Given the description of an element on the screen output the (x, y) to click on. 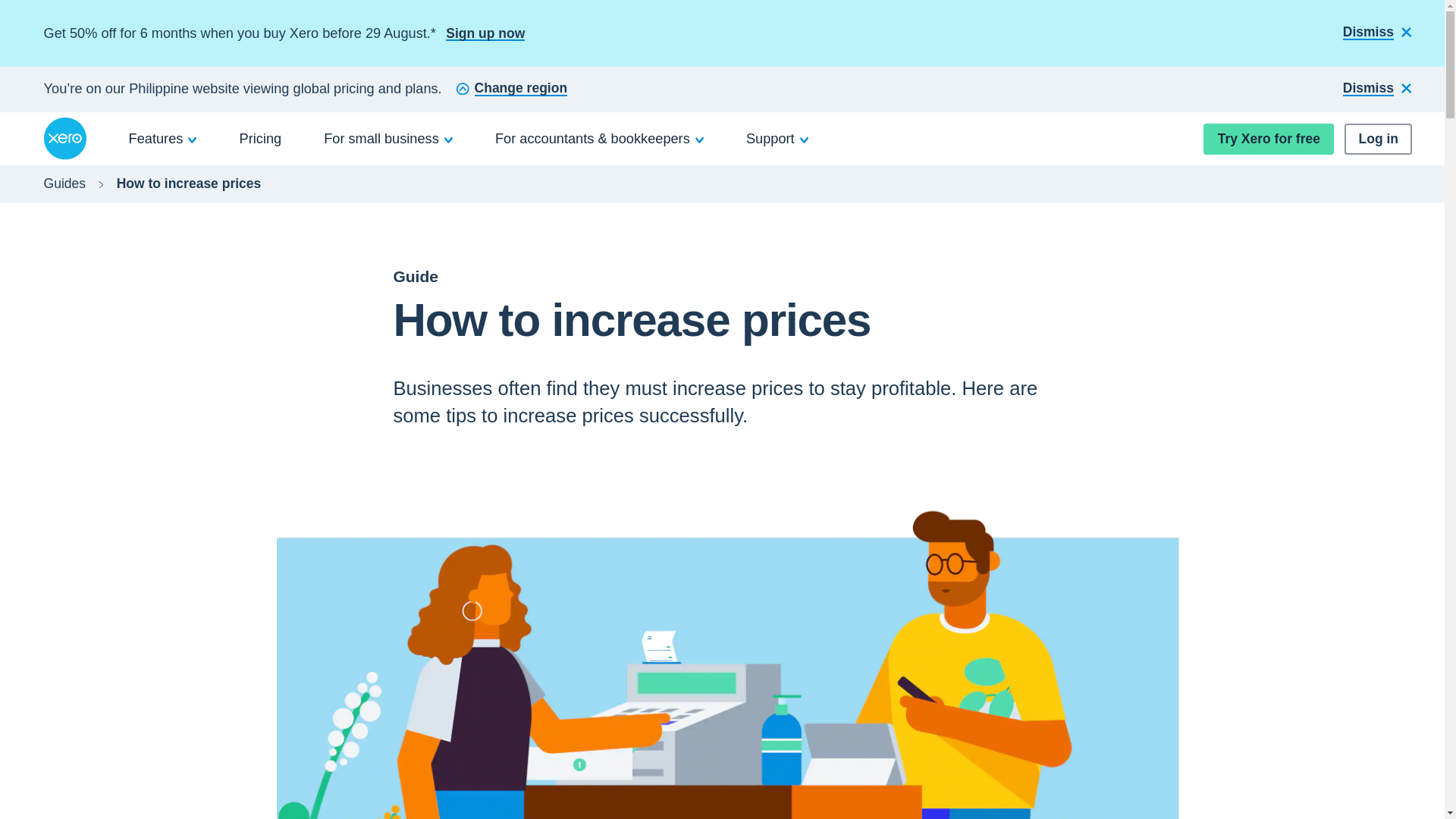
Try Xero for free (1268, 138)
Dismiss (1377, 89)
How to increase prices (189, 183)
Guides (64, 183)
Log in (1377, 138)
For small business (388, 138)
Support (777, 138)
Pricing (260, 138)
Features (162, 138)
Change region (511, 89)
